Given the description of an element on the screen output the (x, y) to click on. 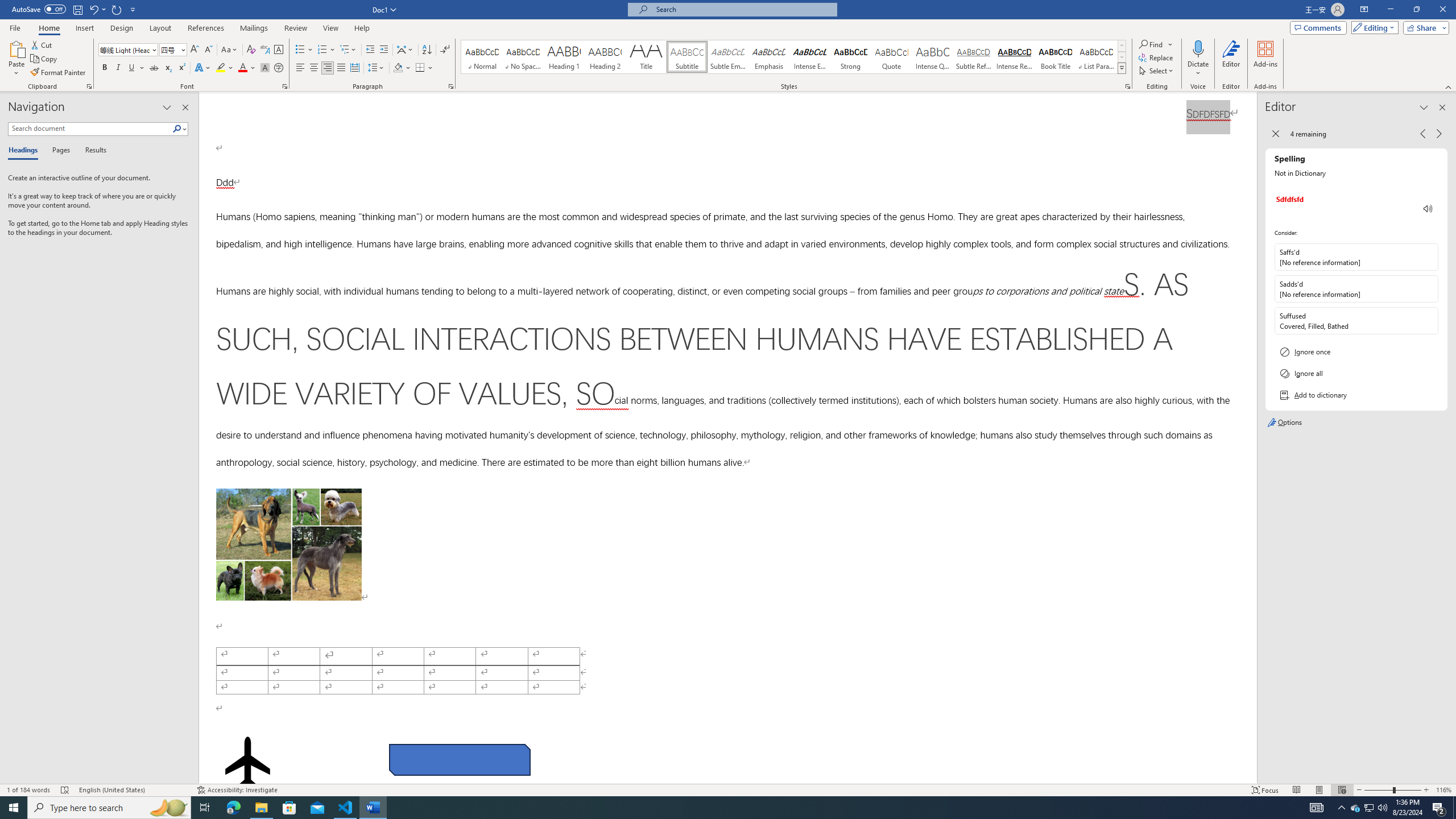
Shading (402, 67)
Morphological variation in six dogs (288, 544)
Decrease Indent (370, 49)
Format Painter (58, 72)
Previous Issue, 4 remaining (1422, 133)
Close pane (185, 107)
More options for Sadds'd (1428, 289)
